Given the description of an element on the screen output the (x, y) to click on. 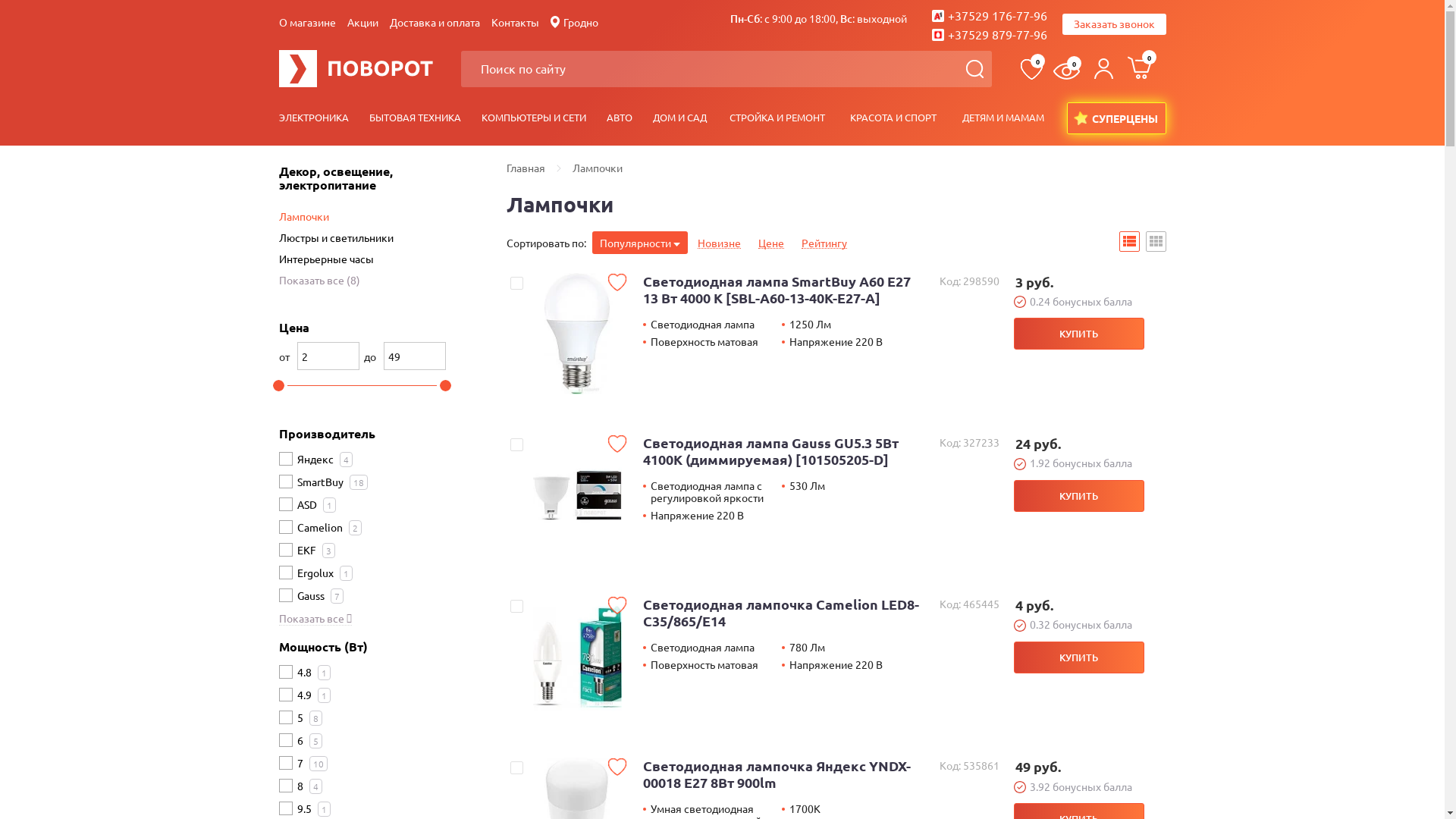
Camelion 2 Element type: text (329, 525)
SmartBuy 18 Element type: text (332, 479)
ASD 1 Element type: text (316, 502)
4.9 1 Element type: text (313, 693)
0 Element type: text (1137, 68)
EKF 3 Element type: text (316, 548)
4.8 1 Element type: text (313, 670)
8 4 Element type: text (309, 784)
9.5 1 Element type: text (313, 806)
Gauss 7 Element type: text (320, 593)
7 10 Element type: text (312, 761)
Ergolux 1 Element type: text (324, 570)
6 5 Element type: text (309, 738)
5 8 Element type: text (309, 715)
0 Element type: text (1061, 68)
0 Element type: text (1029, 68)
+37529 176-77-96 Element type: text (988, 14)
+37529 879-77-96 Element type: text (988, 33)
